Given the description of an element on the screen output the (x, y) to click on. 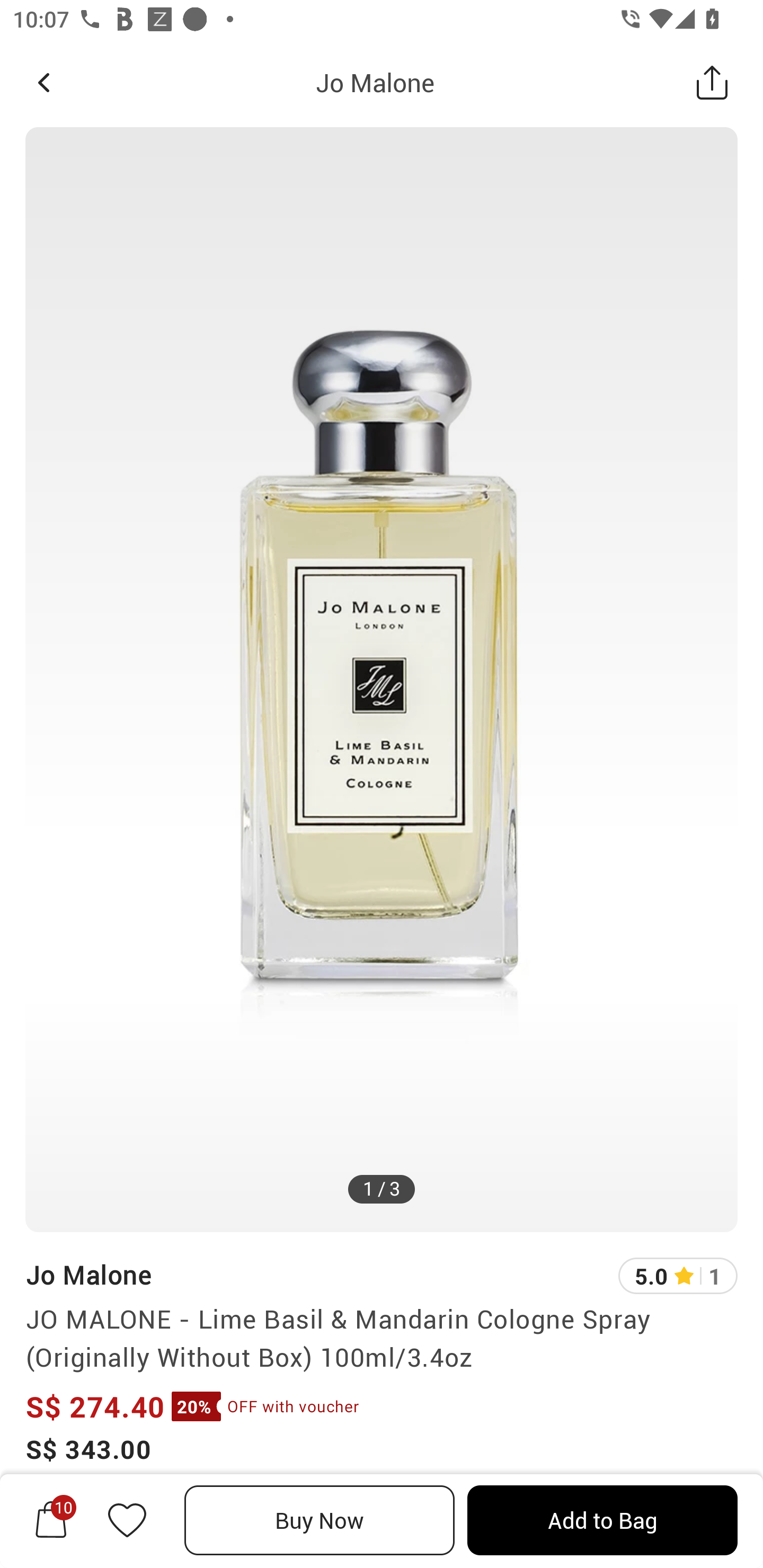
Jo Malone (375, 82)
Share this Product (711, 82)
Jo Malone (88, 1274)
5.0 1 (677, 1275)
Buy Now (319, 1519)
Add to Bag (601, 1519)
10 (50, 1520)
